Given the description of an element on the screen output the (x, y) to click on. 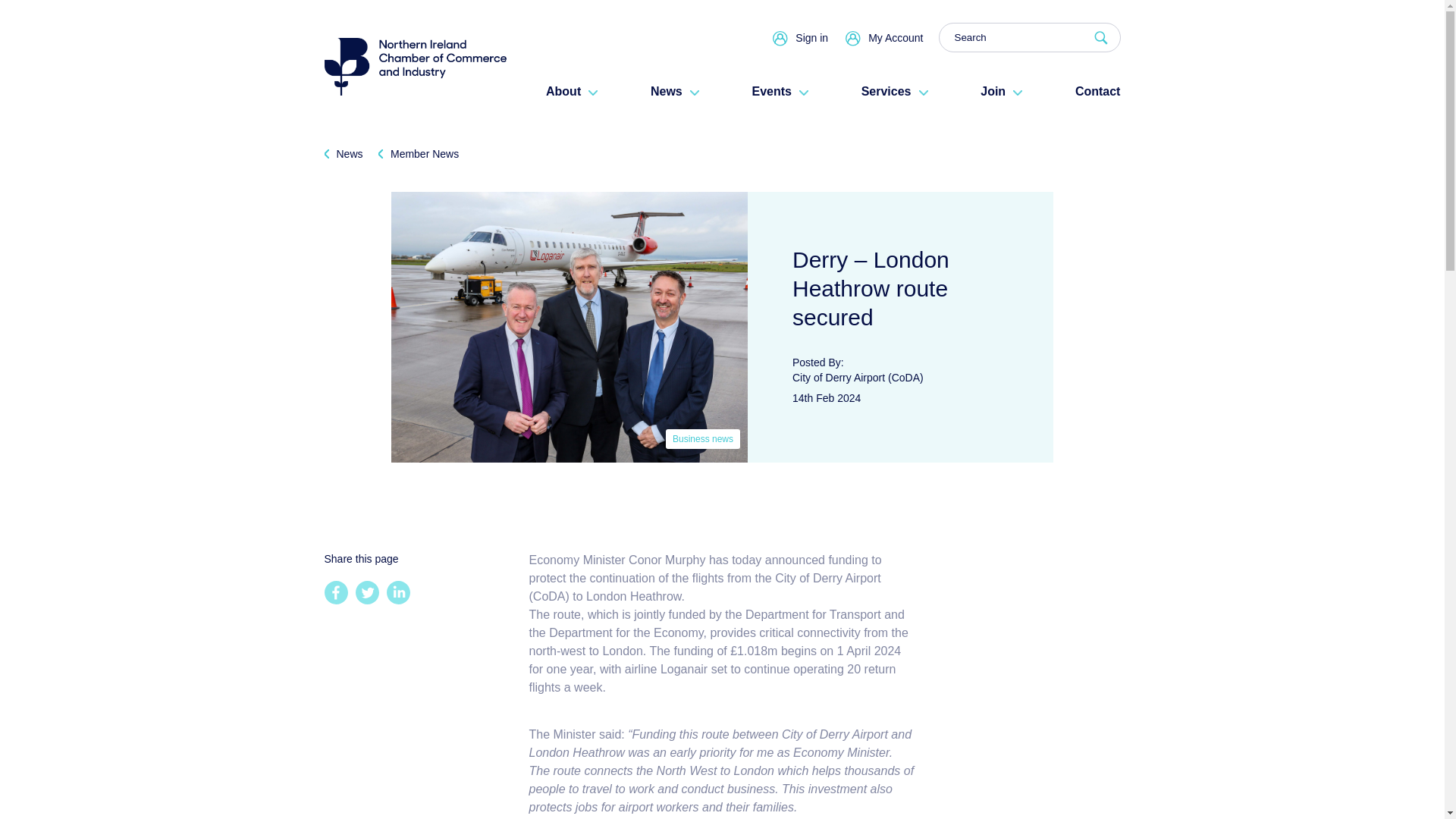
Join (1001, 91)
News (675, 91)
About (572, 91)
Services (894, 91)
Search (1030, 37)
Sign in (811, 36)
Contact (1098, 91)
My Account (895, 36)
Events (779, 91)
